Given the description of an element on the screen output the (x, y) to click on. 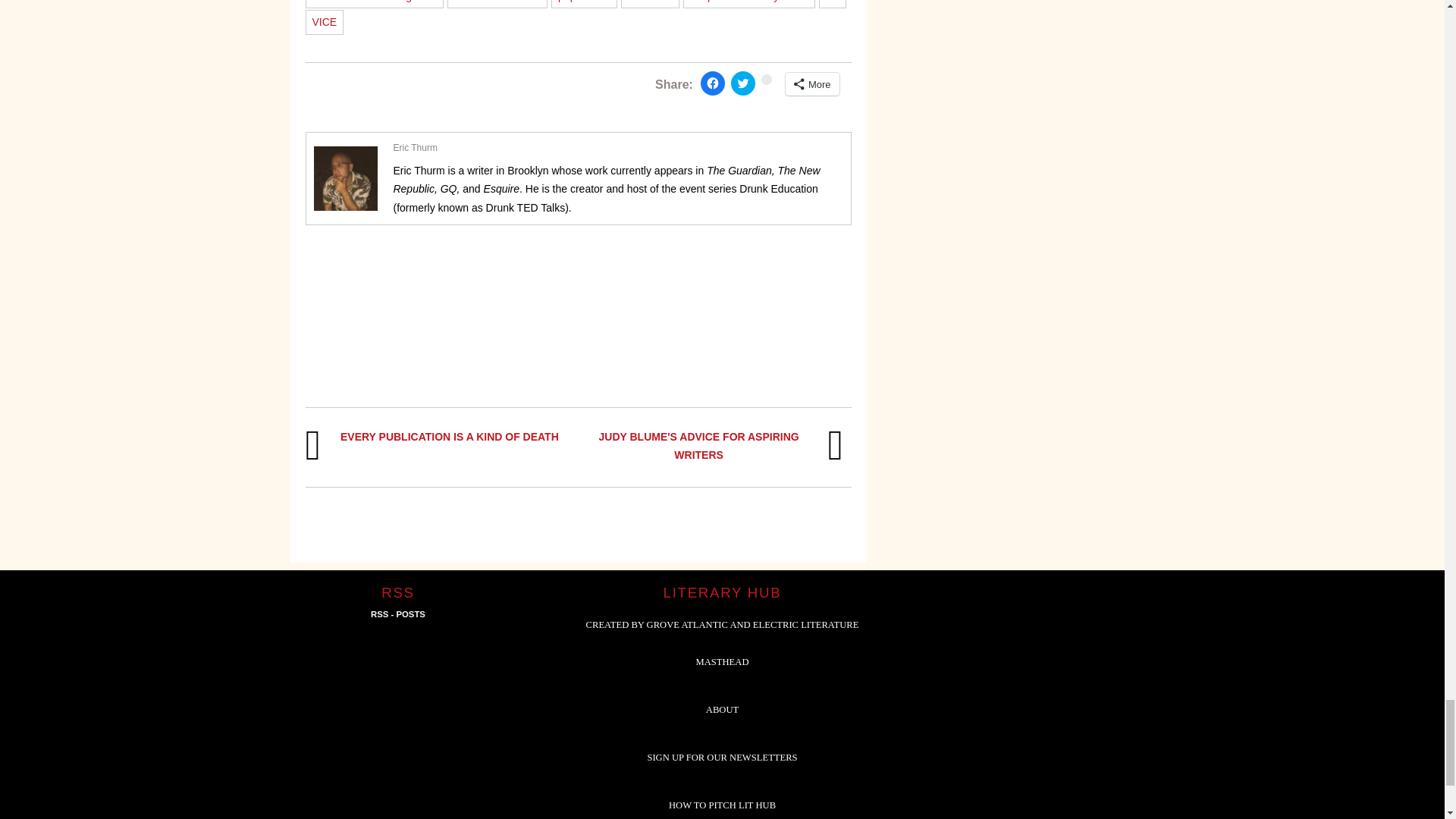
Share on Facebook (712, 83)
Click to share on Twitter (742, 83)
